Given the description of an element on the screen output the (x, y) to click on. 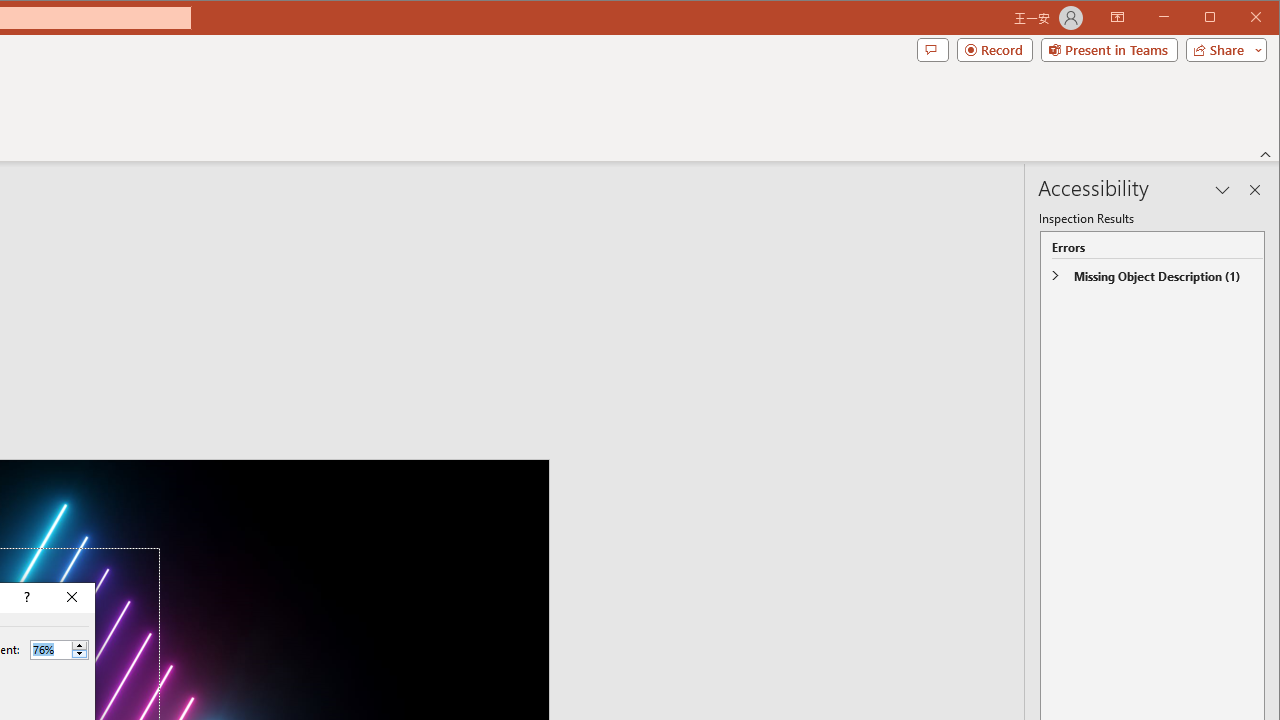
Percent (59, 650)
Percent (50, 649)
